Given the description of an element on the screen output the (x, y) to click on. 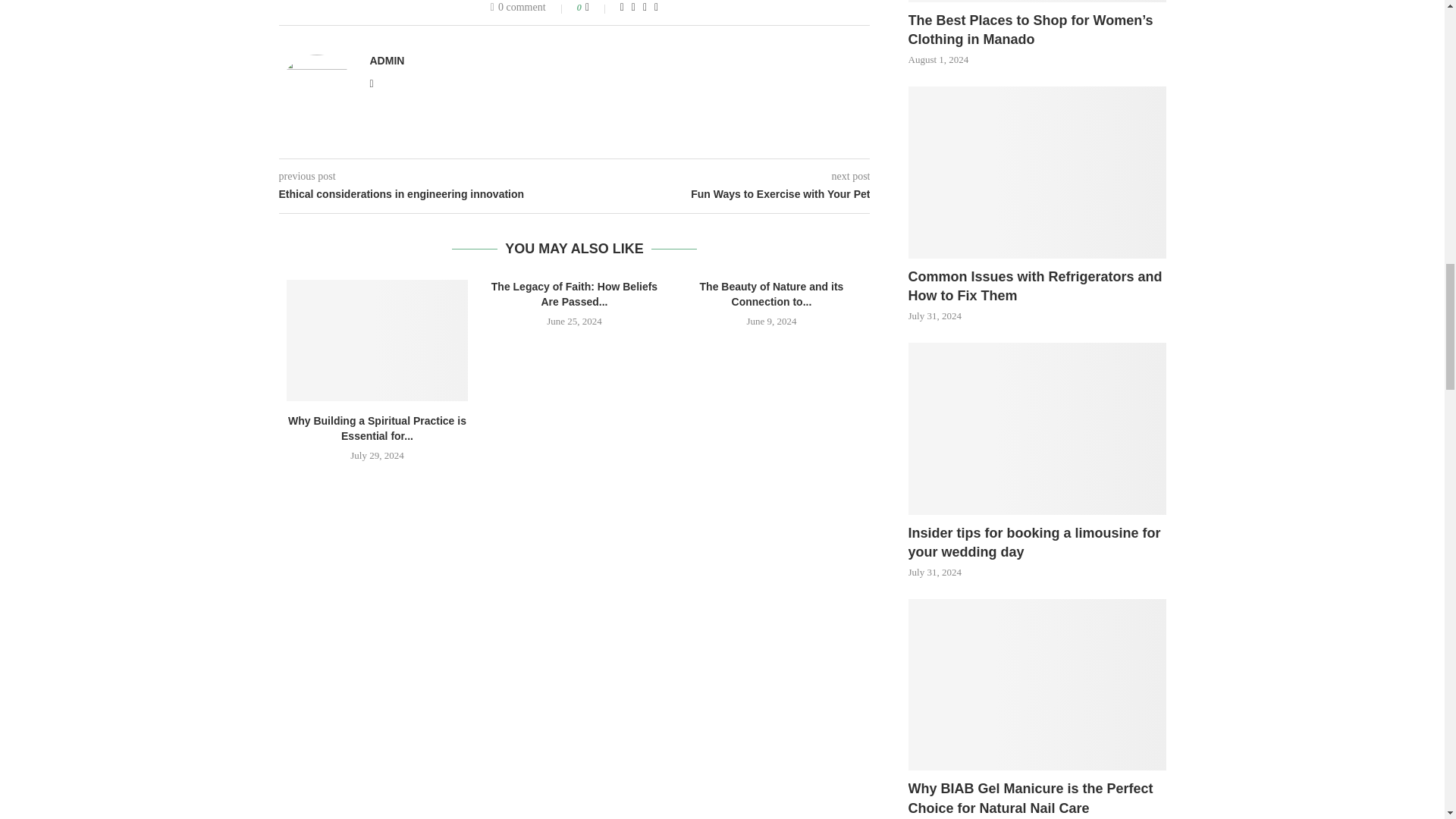
ADMIN (386, 60)
Why Building a Spiritual Practice is Essential for Faith (377, 340)
Like (597, 7)
Author admin (386, 60)
